Given the description of an element on the screen output the (x, y) to click on. 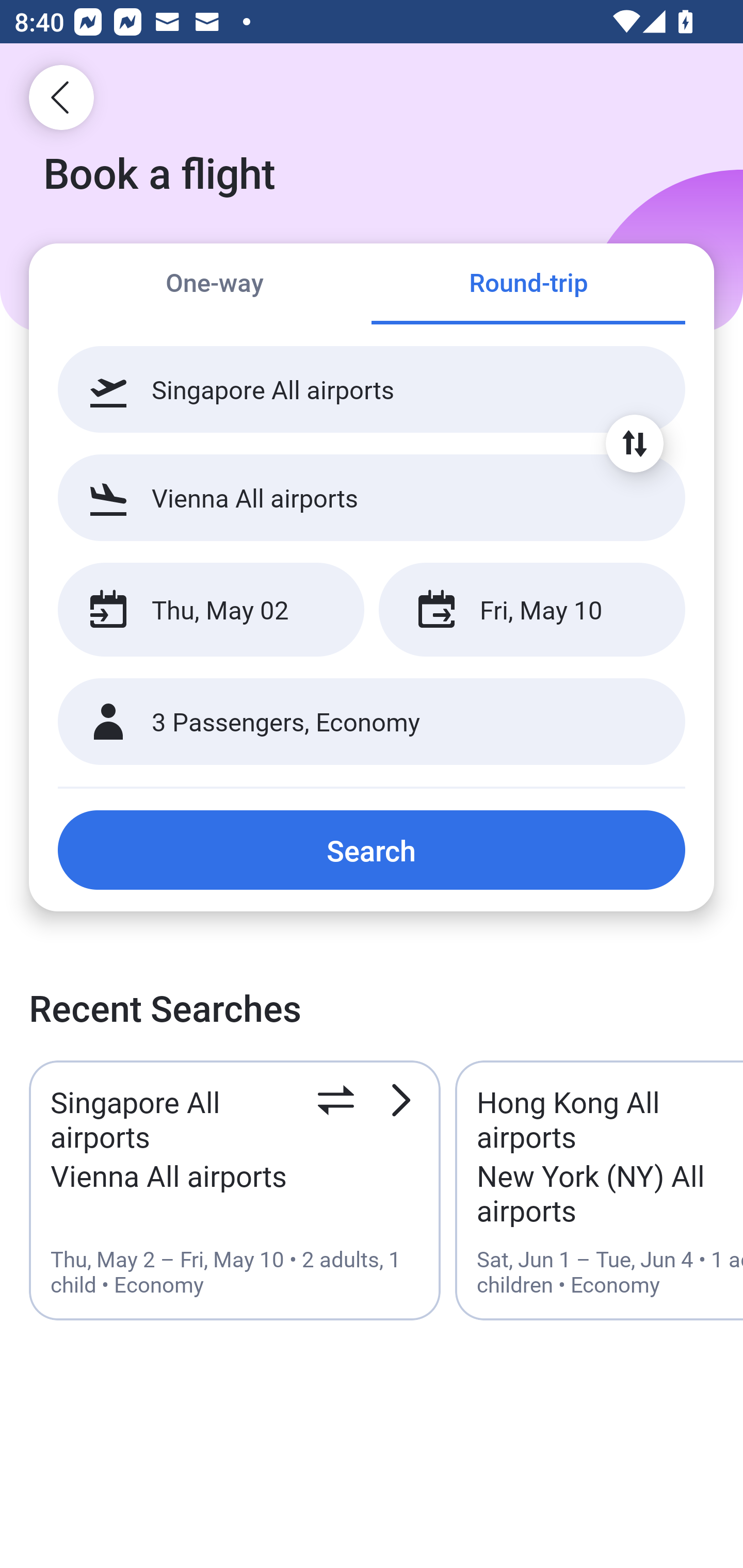
One-way (214, 284)
Singapore All airports (371, 389)
Vienna All airports (371, 497)
Thu, May 02 (210, 609)
Fri, May 10 (531, 609)
3 Passengers, Economy (371, 721)
Search (371, 849)
